Given the description of an element on the screen output the (x, y) to click on. 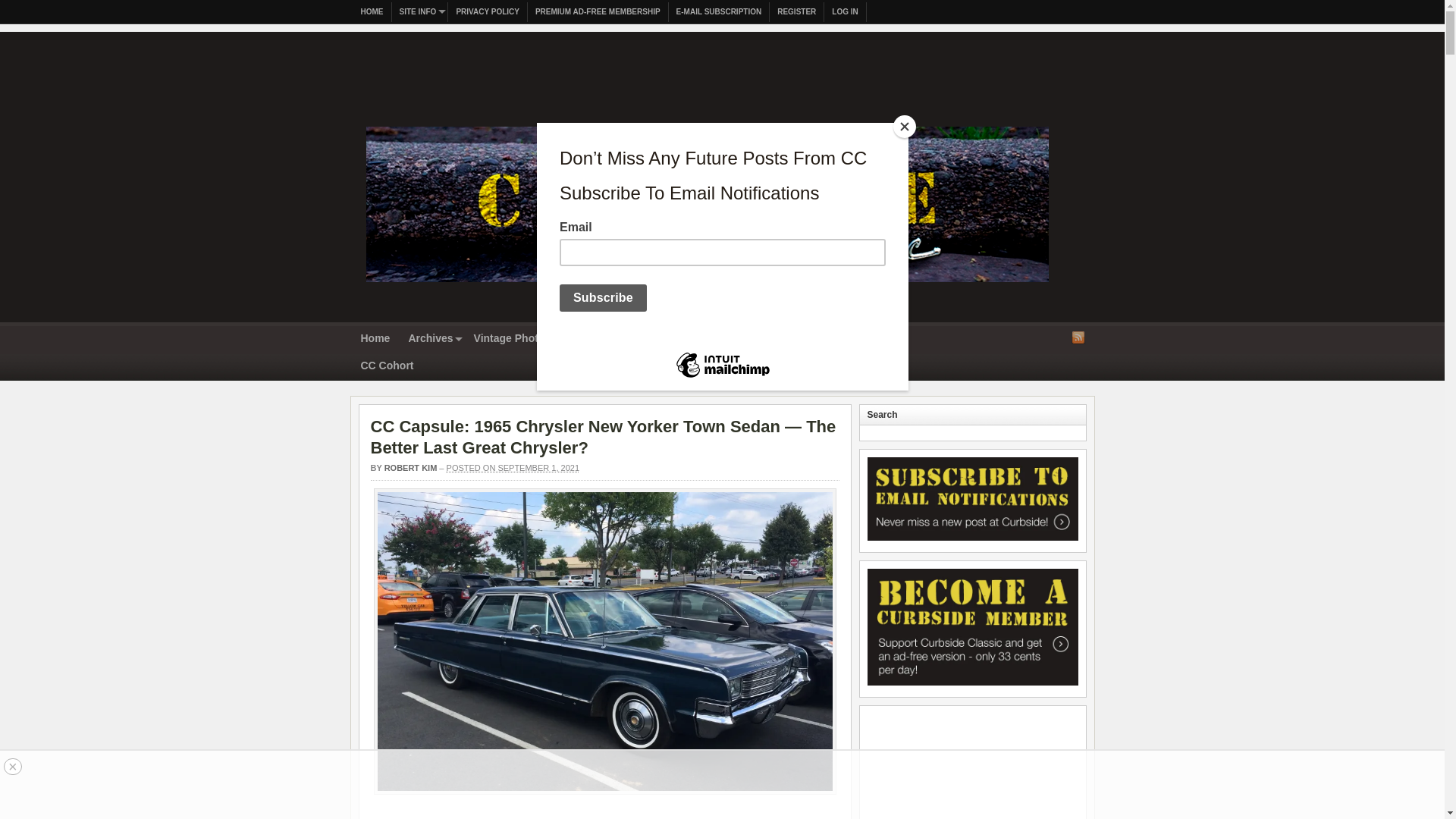
2021-09-01T12:00:00-07:00 (512, 467)
E-MAIL SUBSCRIPTION (719, 12)
Curbside Classic (706, 286)
Archives (431, 338)
Home (375, 338)
SITE INFO (419, 12)
PREMIUM AD-FREE MEMBERSHIP (597, 12)
Robert Kim (411, 467)
REGISTER (797, 12)
HOME (372, 12)
Vintage Photos (512, 338)
PRIVACY POLICY (487, 12)
LOG IN (845, 12)
Curbside Classic RSS Feed (1078, 337)
